Given the description of an element on the screen output the (x, y) to click on. 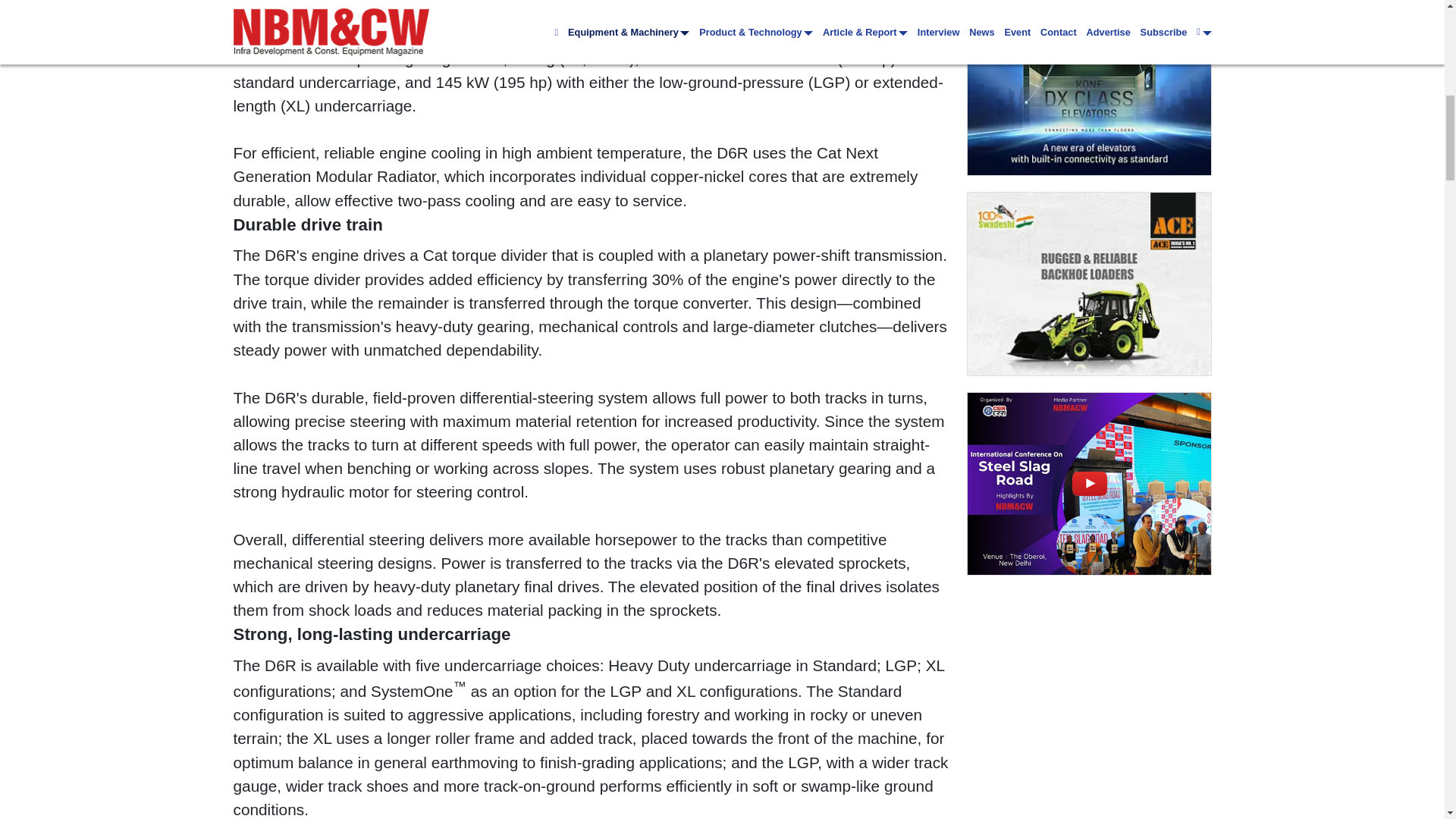
Kone - DX Class Elevator (1089, 88)
